Given the description of an element on the screen output the (x, y) to click on. 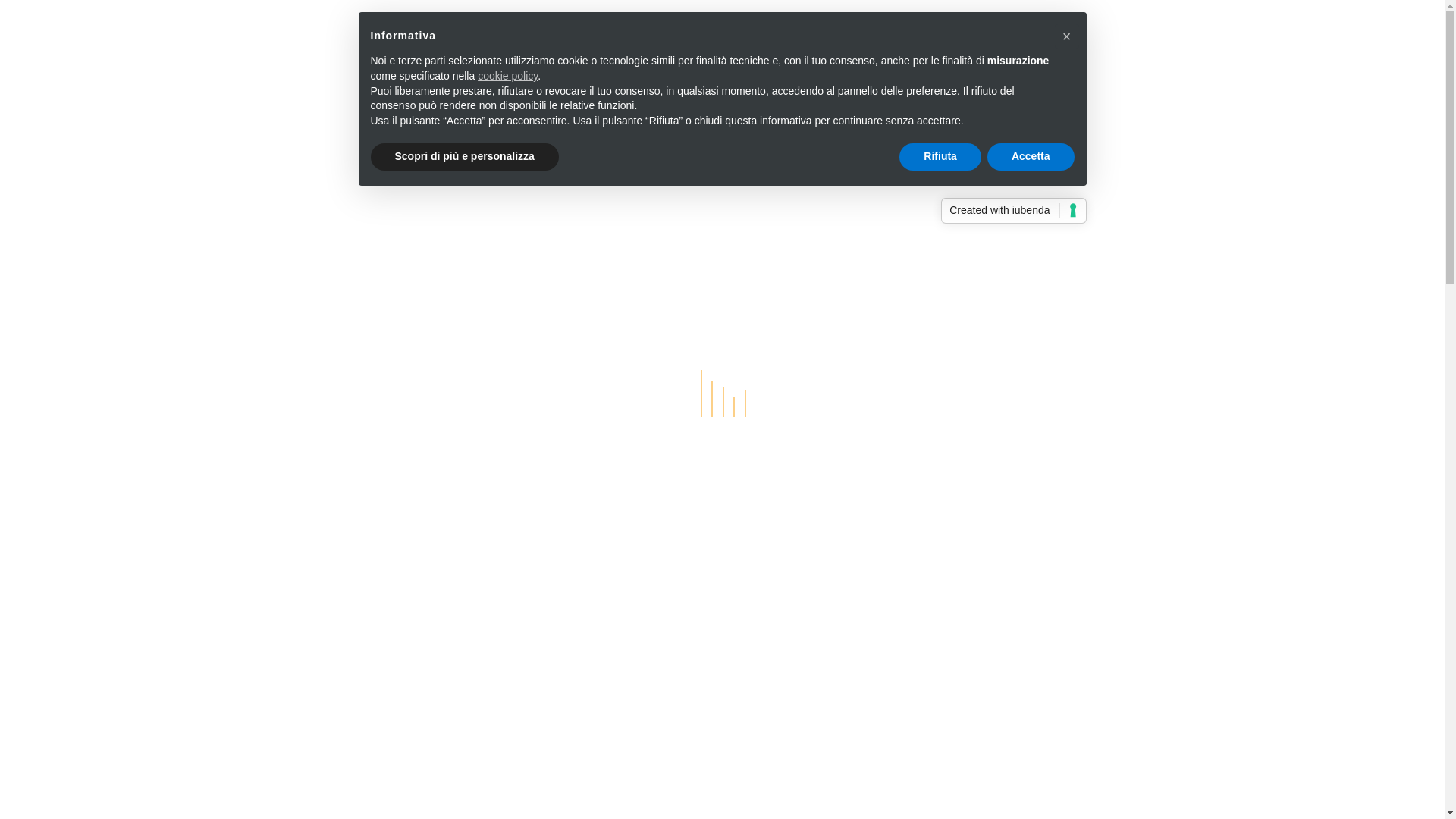
Privacy Policy (1083, 41)
Realizzazioni (875, 41)
Contattaci (978, 41)
Prodotti e Servizi (751, 41)
Home (648, 41)
Hungary Virtual Casinos No Deposit Bonus Codes (459, 492)
6 Novembre 2023 (381, 234)
Free No Deposit Casino Bonus Codes Hu Real Gaming (473, 472)
